Given the description of an element on the screen output the (x, y) to click on. 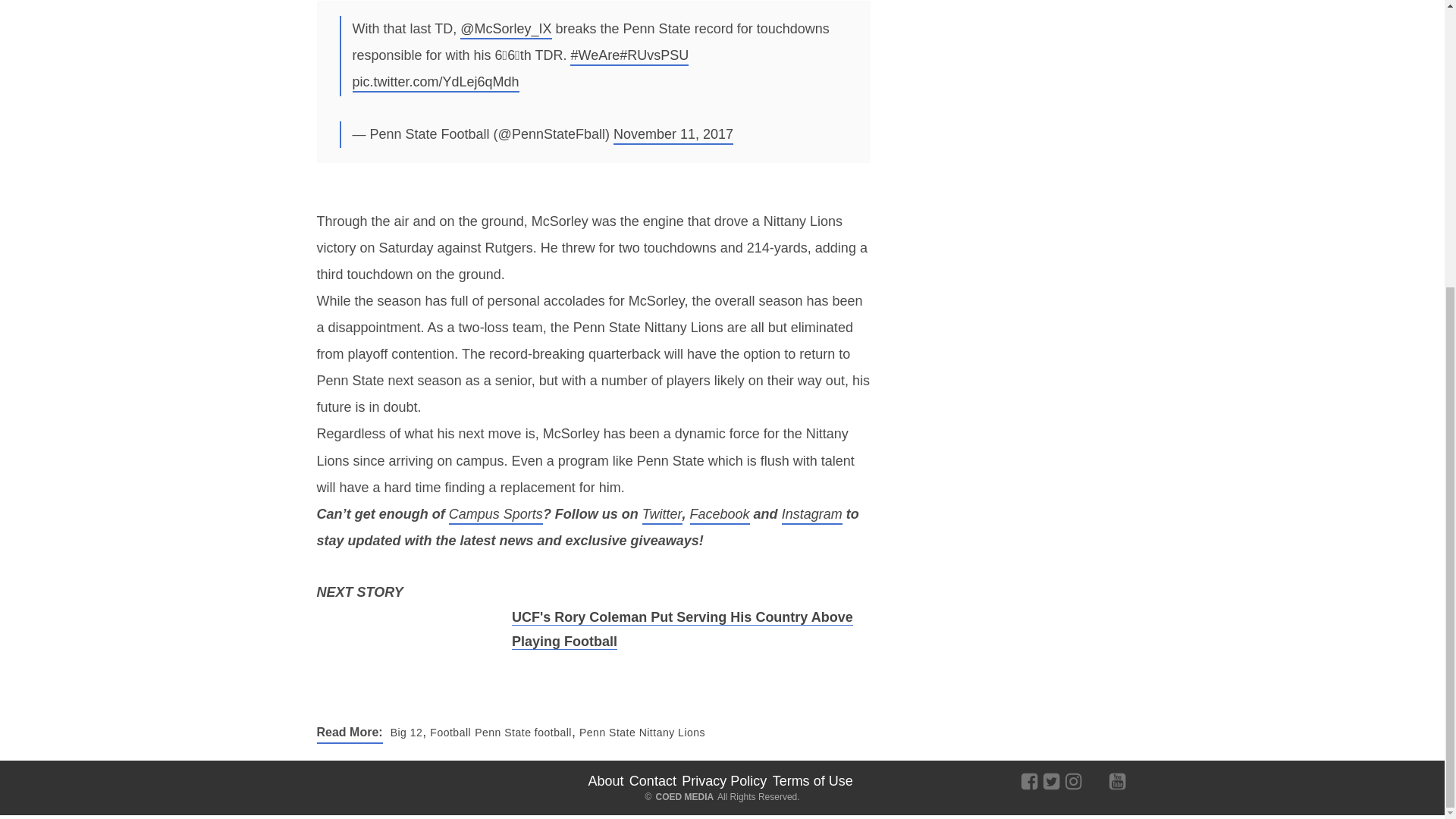
Facebook (719, 515)
Penn State football (521, 731)
November 11, 2017 (672, 135)
Follow Us On Facebook (1028, 779)
Twitter (662, 515)
Instagram (812, 515)
COED Media (370, 780)
Penn State football (521, 731)
Big 12 (405, 731)
Football (448, 731)
